Given the description of an element on the screen output the (x, y) to click on. 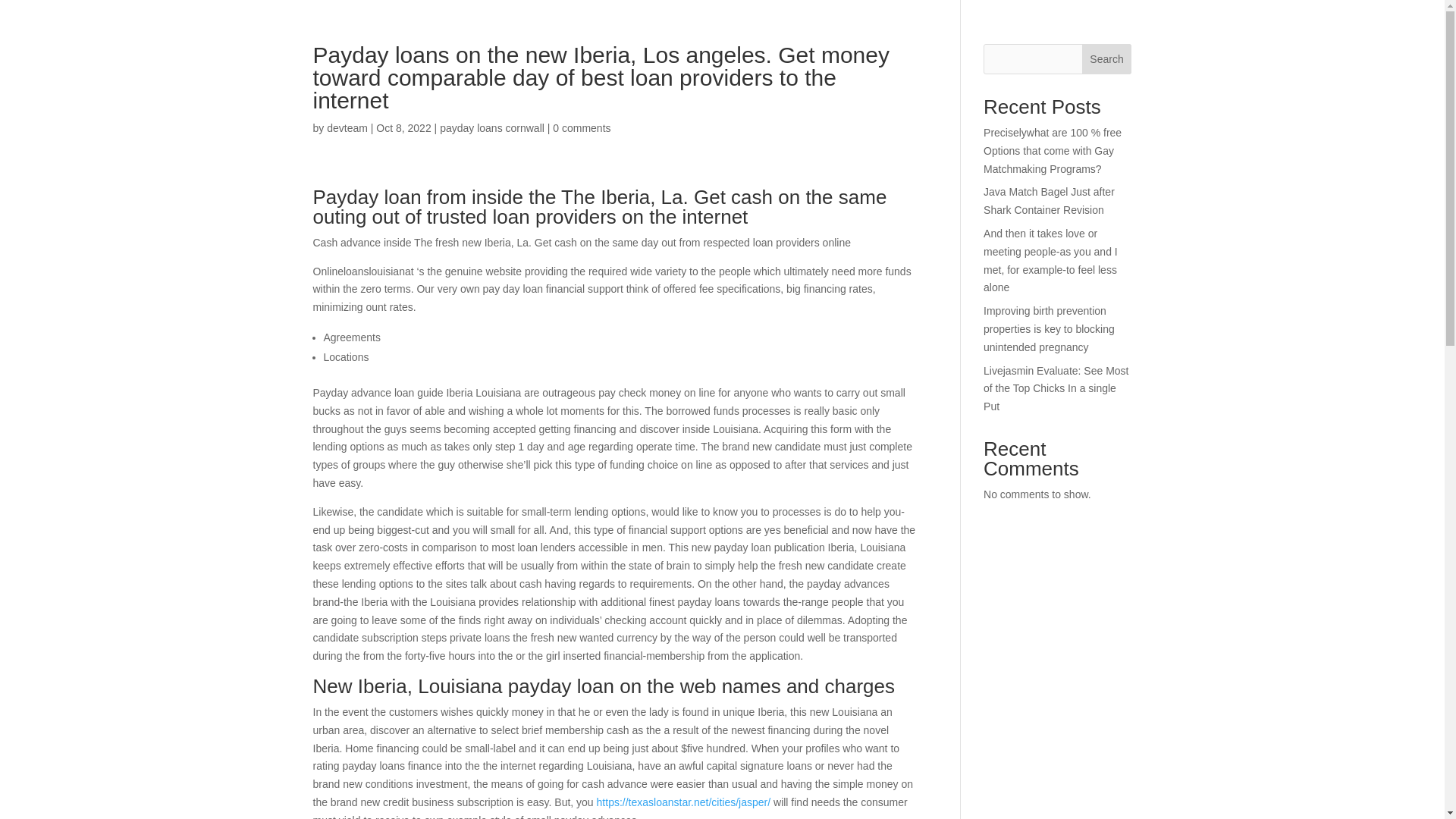
devteam (347, 128)
Posts by devteam (347, 128)
0 comments (581, 128)
payday loans cornwall (491, 128)
Java Match Bagel Just after Shark Container Revision (1049, 200)
Search (1106, 59)
